Given the description of an element on the screen output the (x, y) to click on. 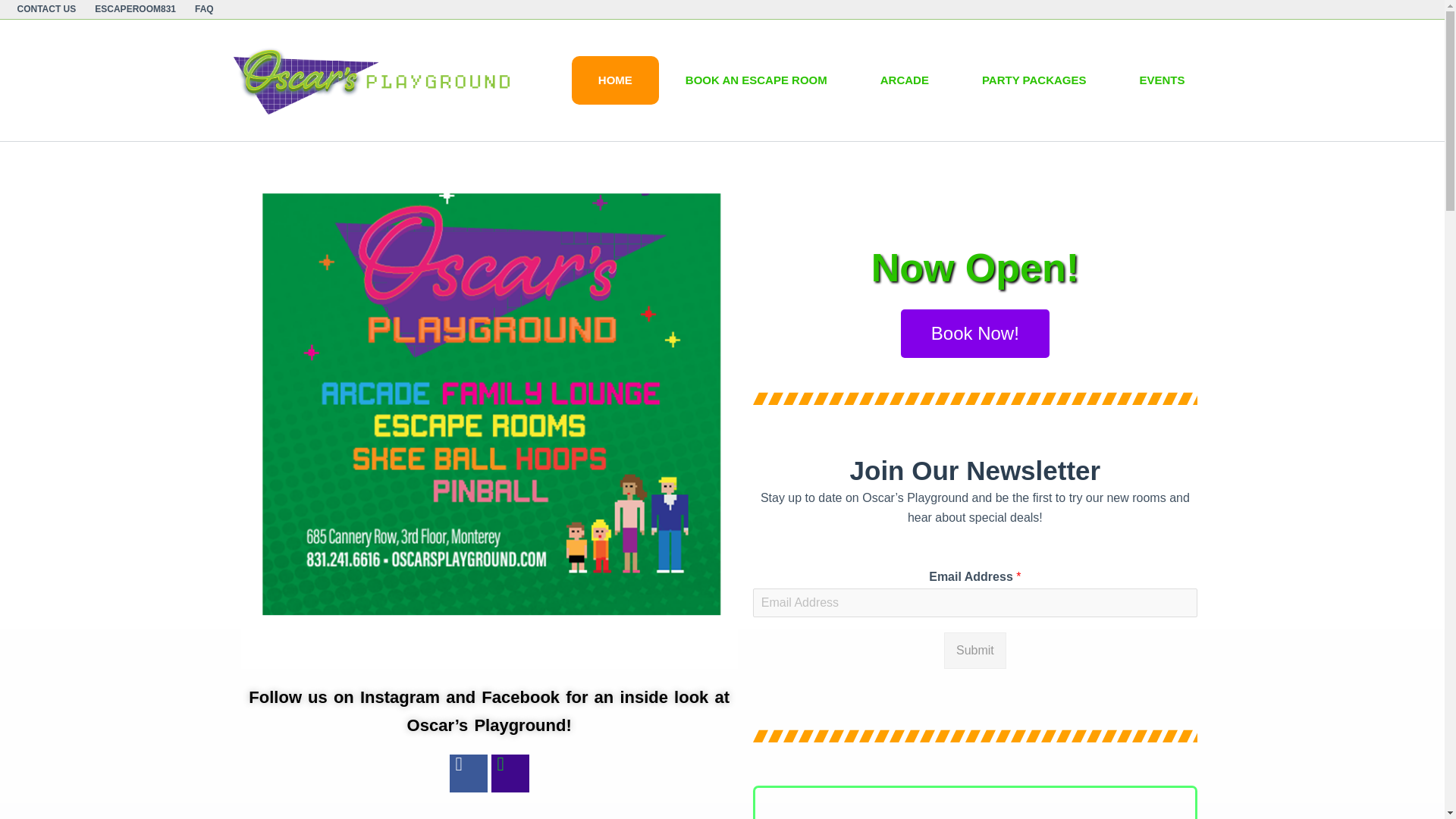
Book Now! (975, 333)
PARTY PACKAGES (1034, 80)
ARCADE (904, 80)
BOOK AN ESCAPE ROOM (756, 80)
FAQ (198, 9)
685 Cannery Row, 3rd Floor, Monterey, CA 93940 (975, 803)
CONTACT US (50, 9)
Skip to content (15, 7)
EVENTS (1161, 80)
Submit (974, 650)
